Given the description of an element on the screen output the (x, y) to click on. 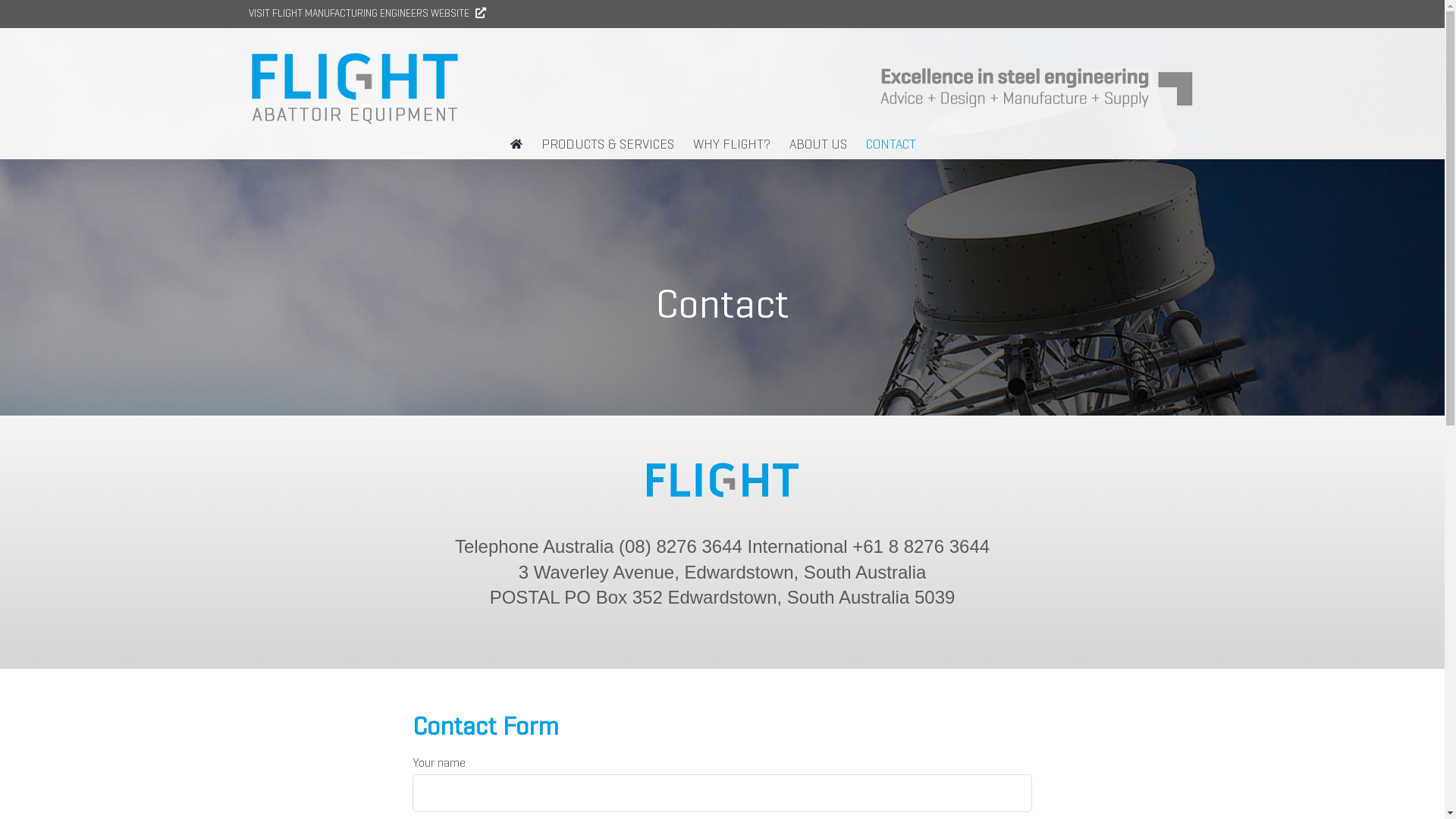
ABOUT US Element type: text (817, 143)
WHY FLIGHT? Element type: text (731, 143)
CONTACT Element type: text (891, 143)
PRODUCTS & SERVICES Element type: text (607, 143)
VISIT FLIGHT MANUFACTURING ENGINEERS WEBSITE Element type: text (370, 12)
